Given the description of an element on the screen output the (x, y) to click on. 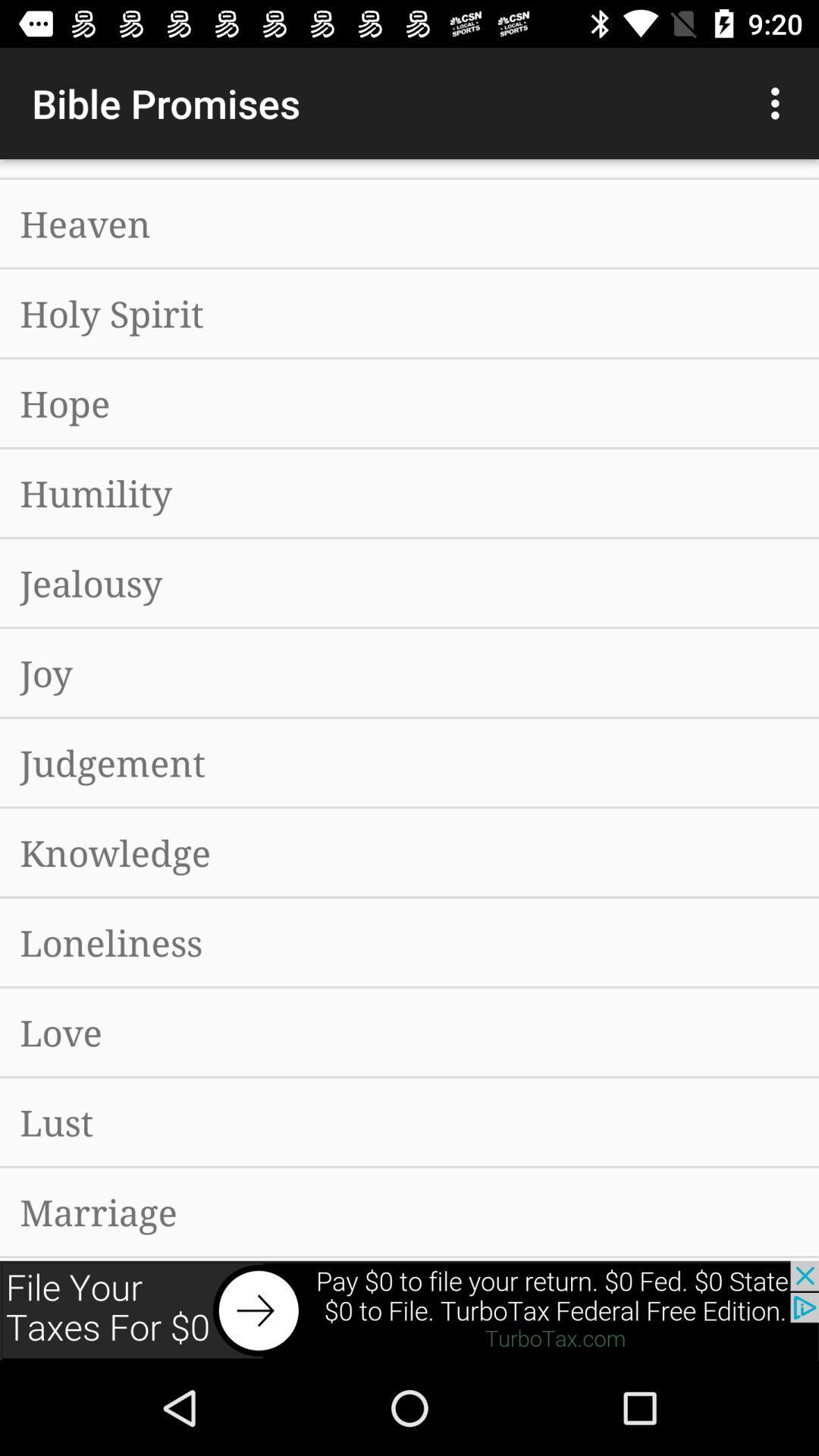
advertisement banner (409, 1310)
